Given the description of an element on the screen output the (x, y) to click on. 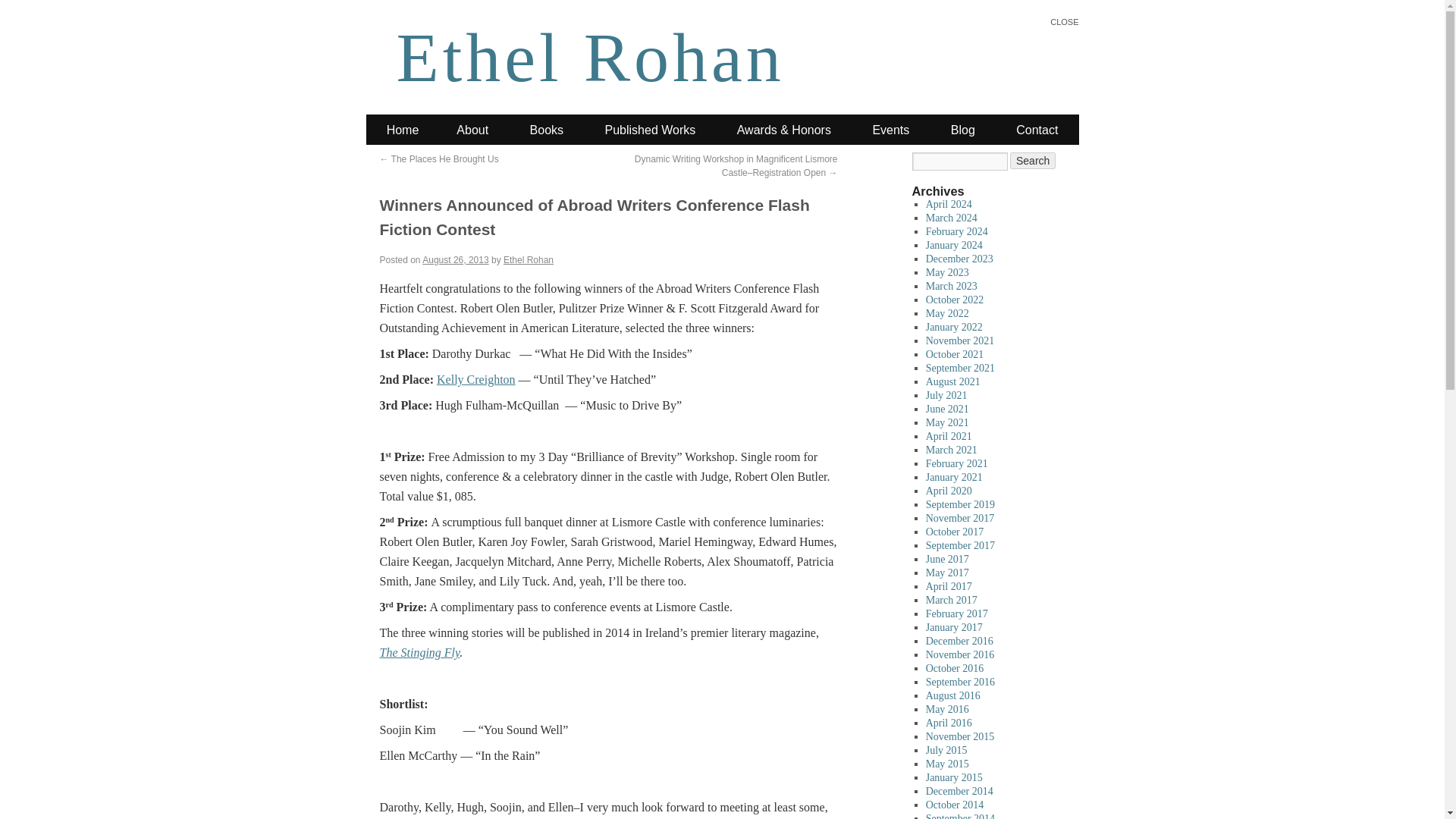
November 2021 (960, 340)
October 2021 (955, 354)
Kelly Creighton (475, 379)
December 2023 (959, 258)
June 2021 (947, 408)
August 26, 2013 (454, 259)
August 2021 (952, 381)
The Stinging Fly (419, 652)
July 2021 (947, 395)
September 2021 (960, 367)
Events (890, 129)
March 2024 (951, 217)
Ethel Rohan (590, 57)
February 2024 (957, 231)
Books (546, 129)
